Given the description of an element on the screen output the (x, y) to click on. 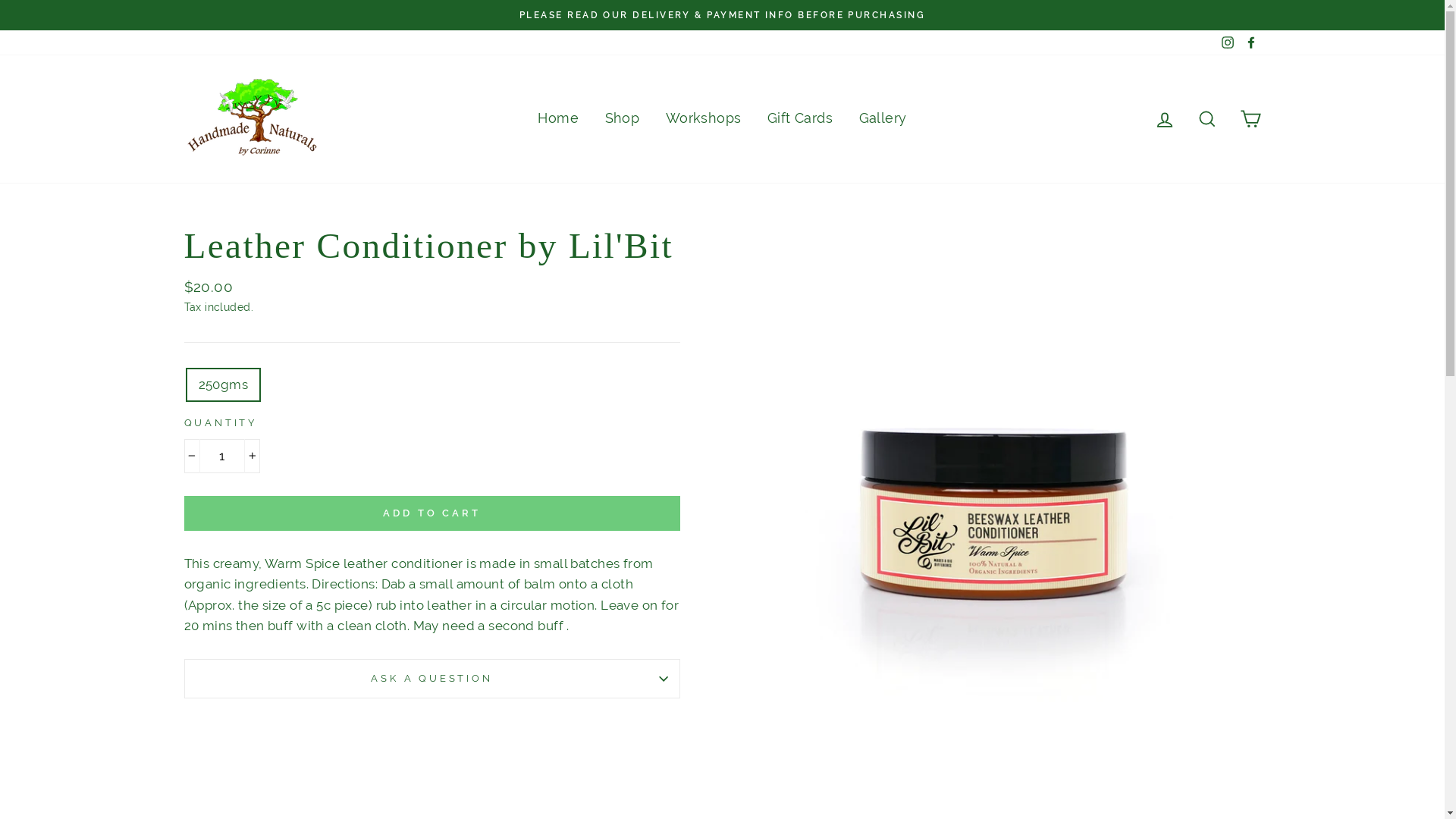
Log in Element type: text (1164, 118)
Gift Cards Element type: text (800, 118)
Workshops Element type: text (703, 118)
ADD TO CART Element type: text (431, 512)
Home Element type: text (557, 118)
Shop Element type: text (622, 118)
Gallery Element type: text (882, 118)
ASK A QUESTION Element type: text (431, 677)
+ Element type: text (252, 456)
Cart Element type: text (1249, 118)
Search Element type: text (1206, 118)
Skip to content Element type: text (0, 0)
Facebook Element type: text (1250, 42)
Instagram Element type: text (1227, 42)
PLEASE READ OUR DELIVERY & PAYMENT INFO BEFORE PURCHASING Element type: text (722, 14)
